Given the description of an element on the screen output the (x, y) to click on. 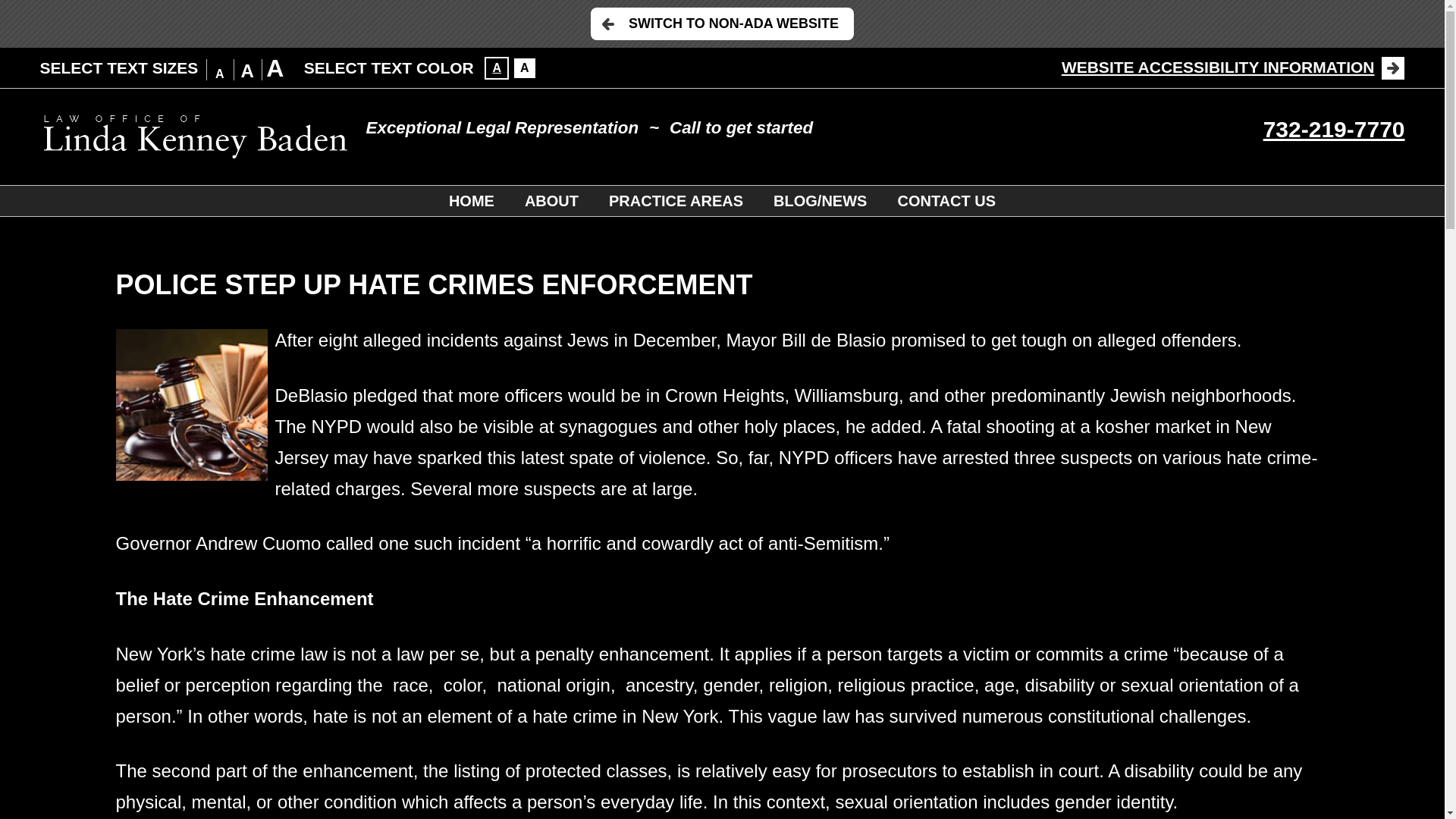
WEBSITE ACCESSIBILITY INFORMATION (1233, 67)
SWITCH TO NON-ADA WEBSITE (722, 23)
ABOUT (551, 200)
HOME (471, 200)
A (496, 67)
732-219-7770 (1334, 129)
CONTACT US (946, 200)
CrimLaw10 (190, 404)
PRACTICE AREAS (676, 200)
Click to view external accessibility article (1233, 67)
